Given the description of an element on the screen output the (x, y) to click on. 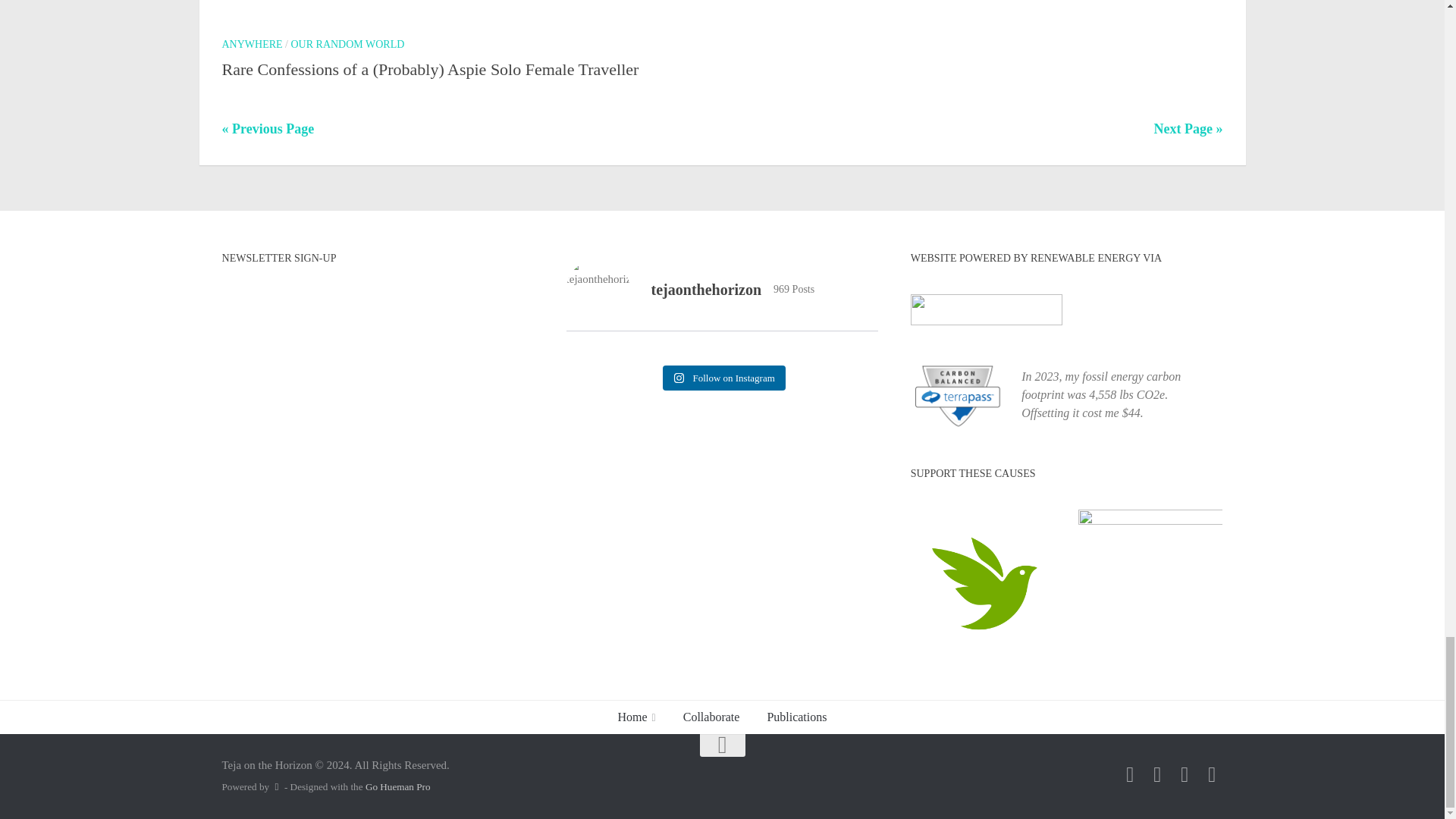
Powered by WordPress (275, 786)
Join the Horizon (1129, 774)
Come to the Horizon (1184, 774)
Go Hueman Pro (397, 786)
Will You Look Twice? (1157, 774)
Follow us on Twitter (1212, 774)
